Given the description of an element on the screen output the (x, y) to click on. 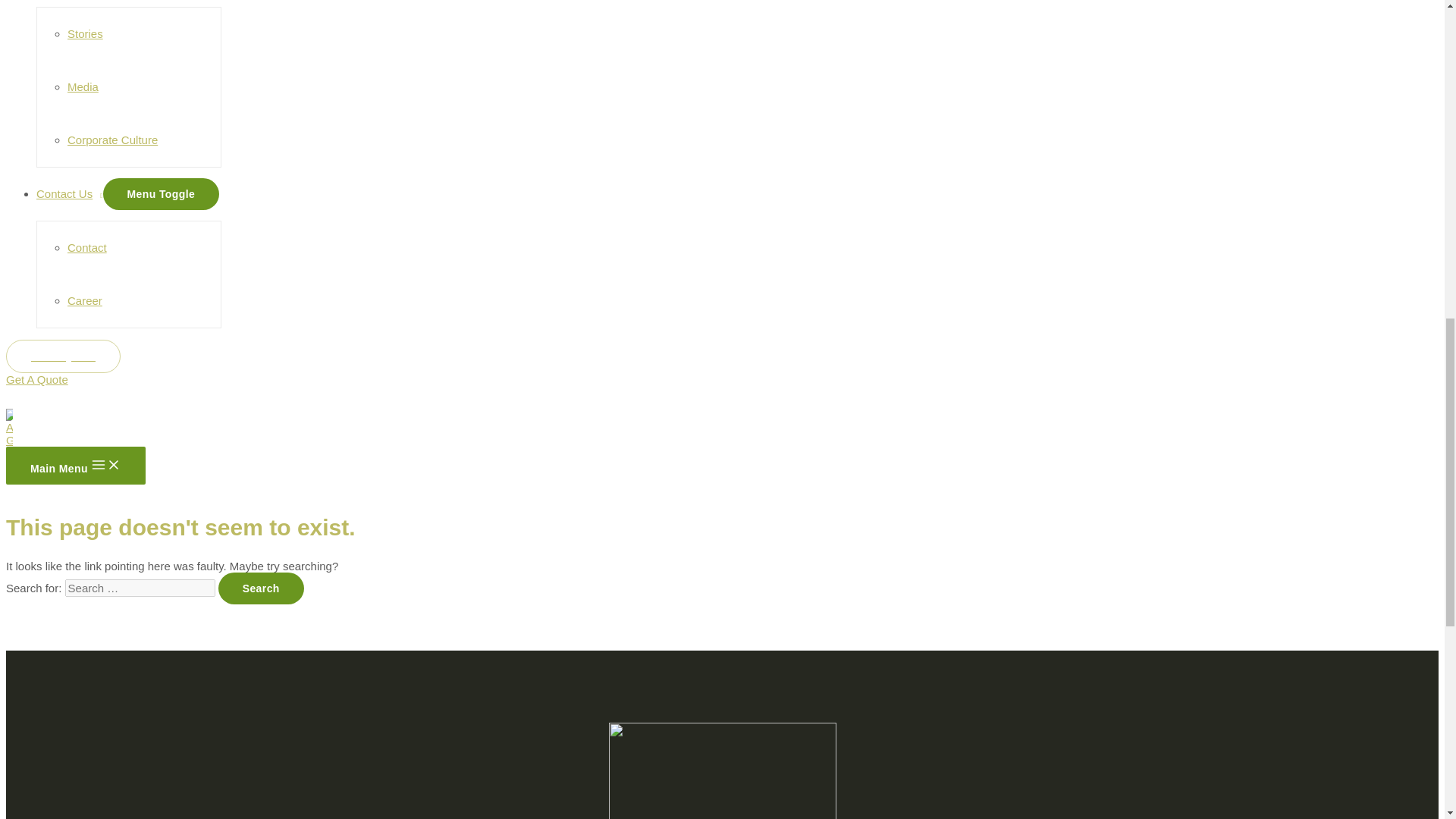
Career (83, 300)
Main Menu (75, 465)
Get A Quote (36, 379)
Contact Us (69, 193)
Get A Quote (62, 362)
Contact (86, 246)
Media (82, 86)
Corporate Culture (111, 139)
Search (261, 588)
Menu Toggle (161, 193)
Search (261, 588)
Stories (84, 33)
